Given the description of an element on the screen output the (x, y) to click on. 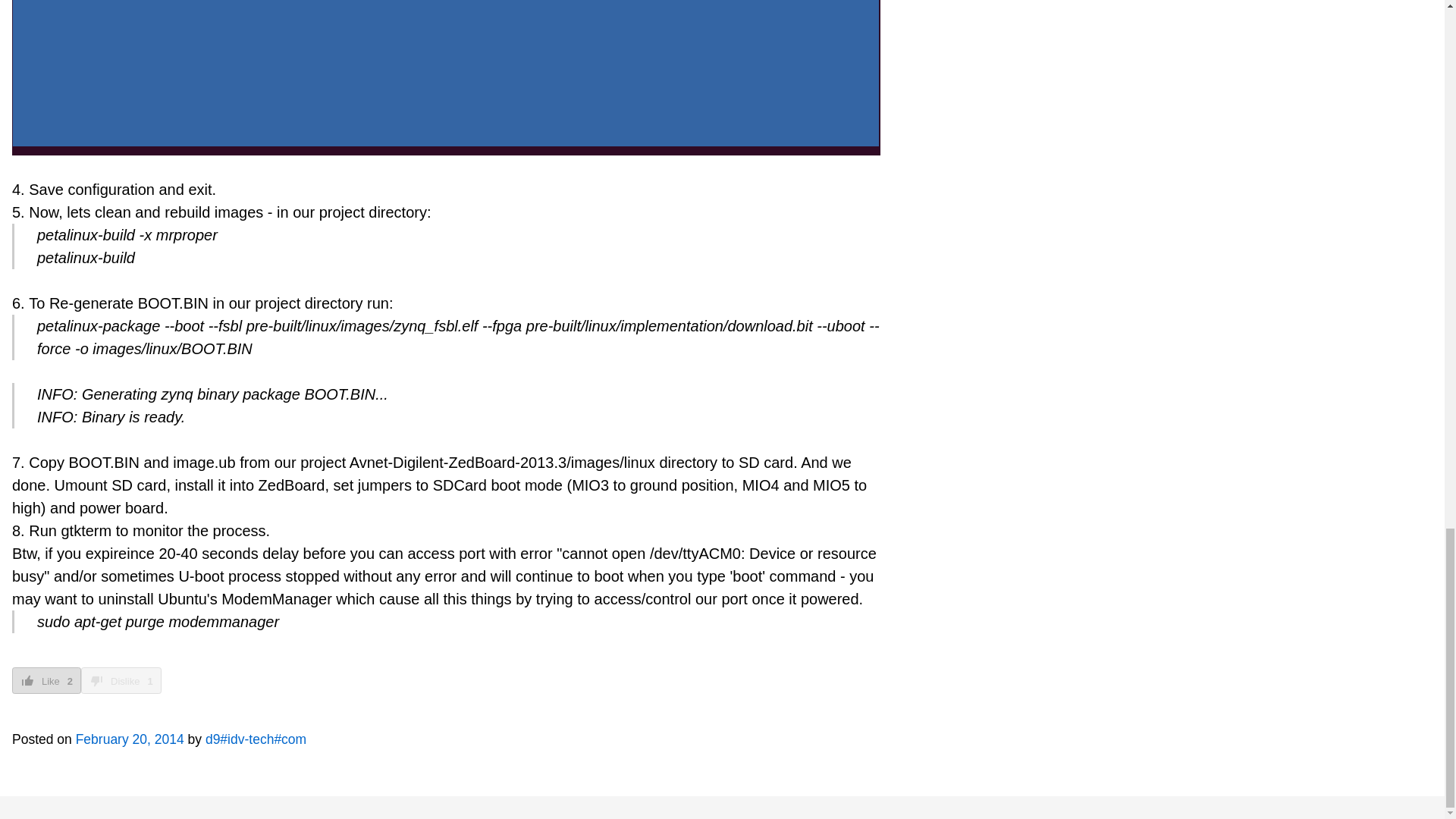
February 20, 2014 (129, 739)
